Given the description of an element on the screen output the (x, y) to click on. 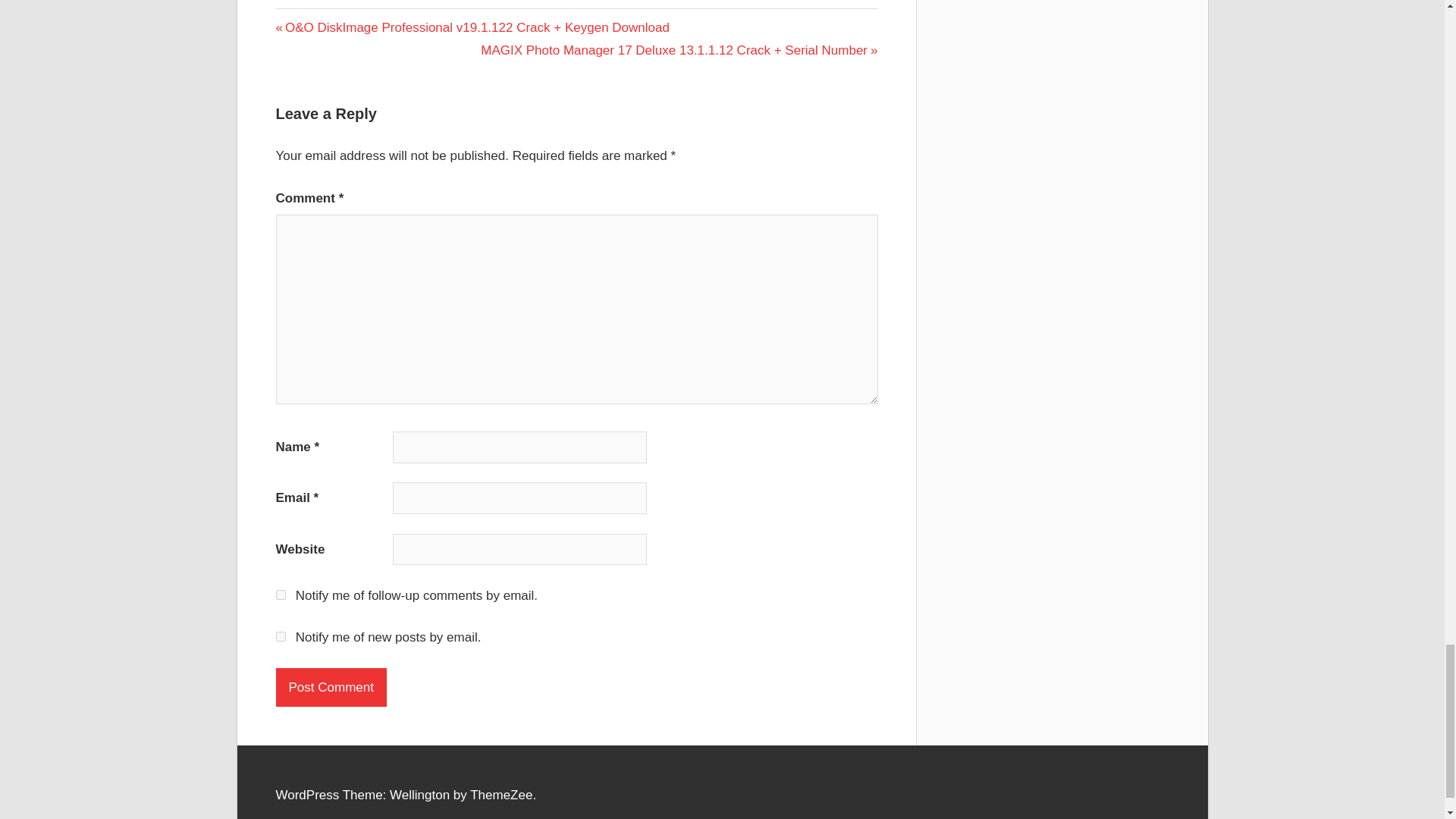
Post Comment (331, 686)
subscribe (280, 594)
subscribe (280, 636)
